Given the description of an element on the screen output the (x, y) to click on. 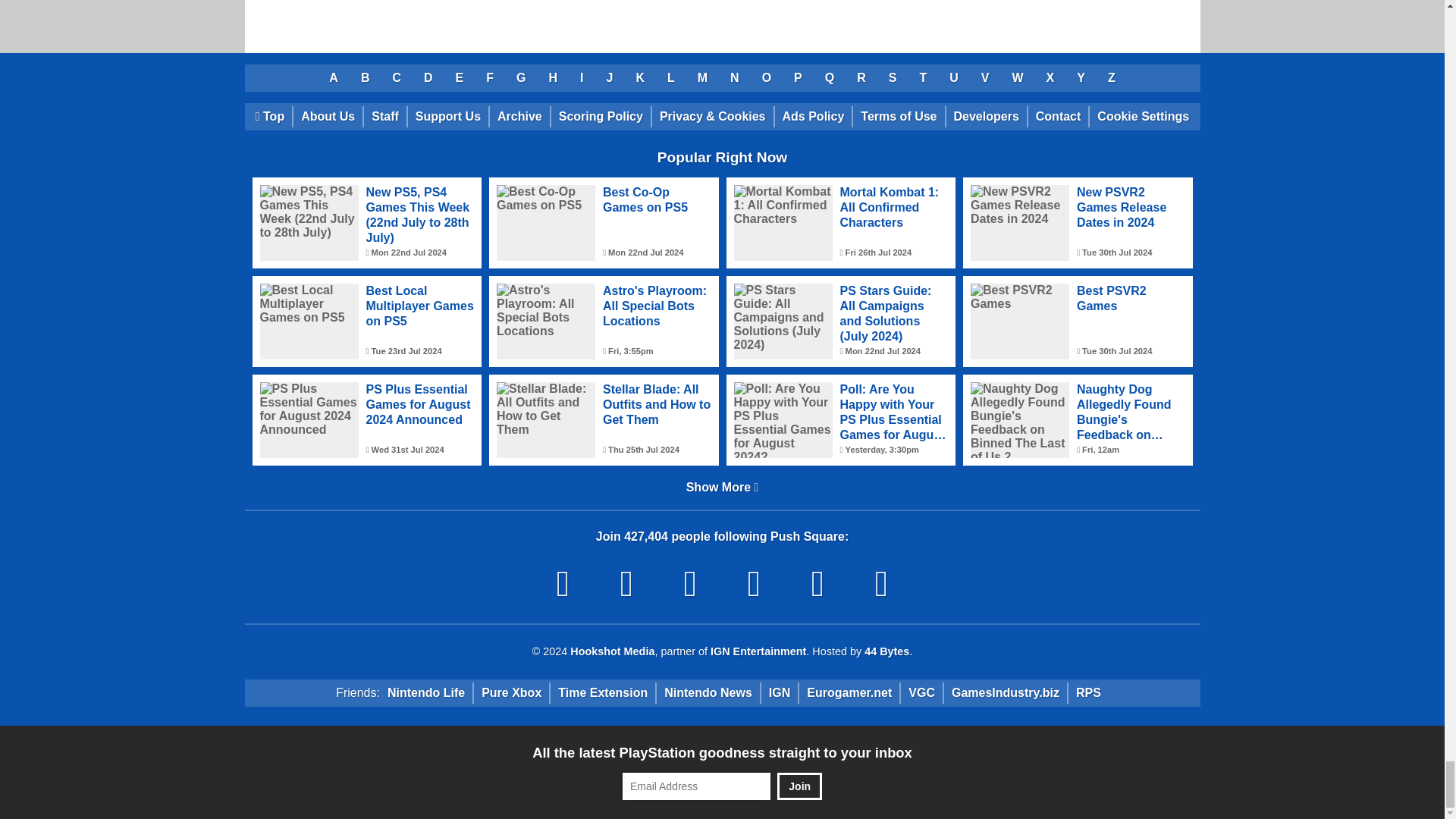
Join (799, 786)
